Given the description of an element on the screen output the (x, y) to click on. 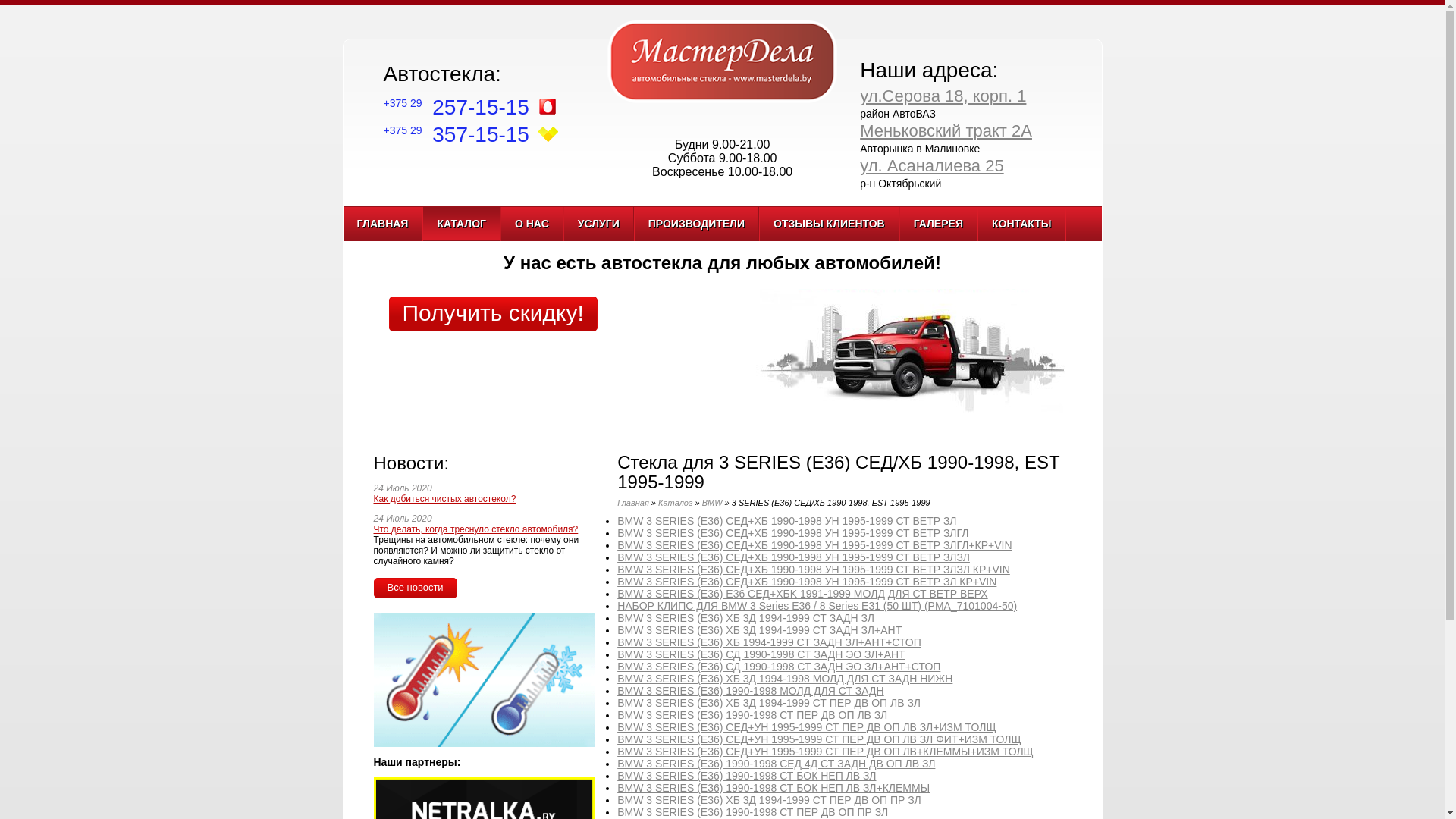
BMW Element type: text (712, 502)
+375 29 357-15-15 Element type: text (456, 134)
+375 29 257-15-15 Element type: text (456, 107)
